Given the description of an element on the screen output the (x, y) to click on. 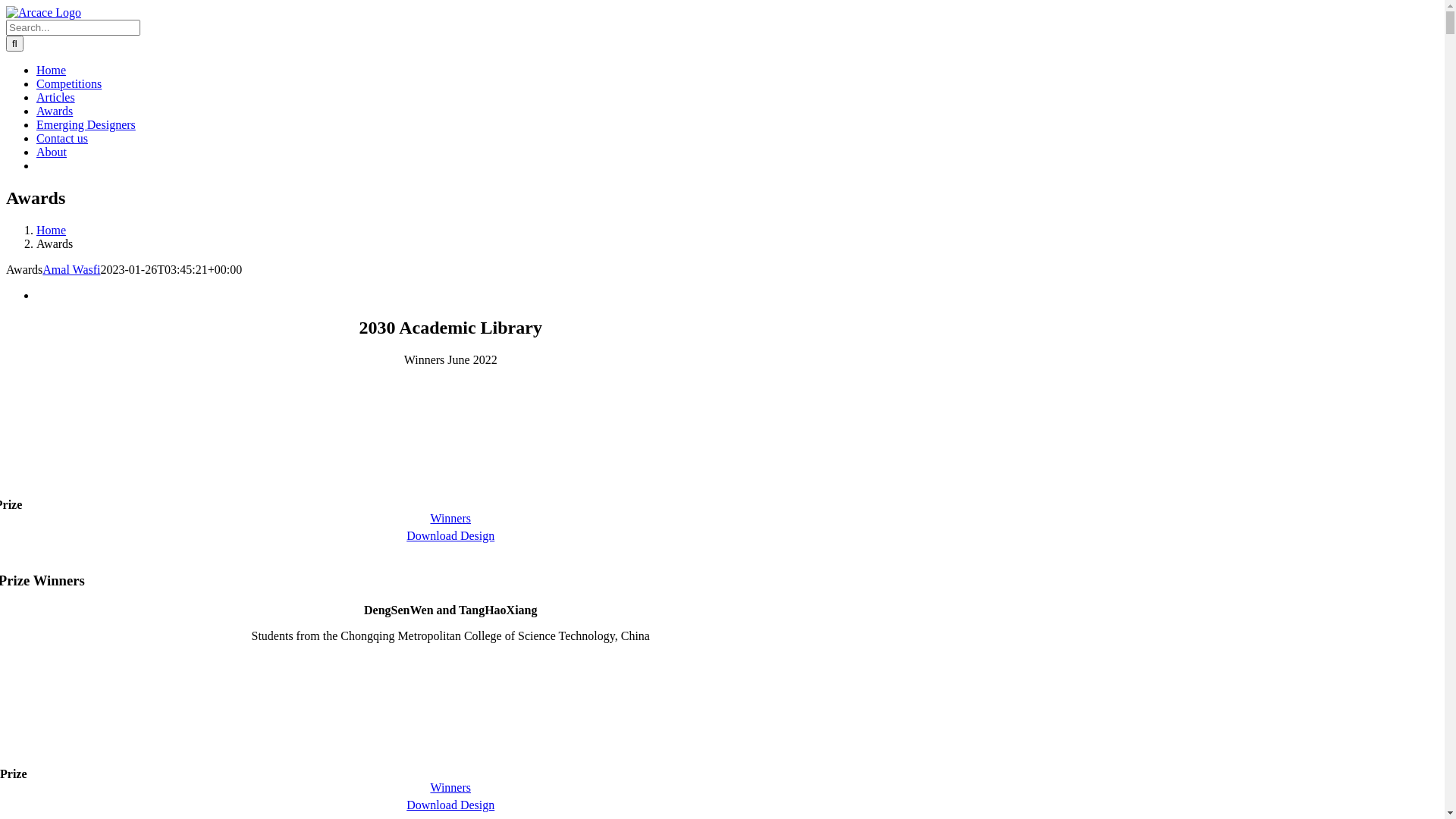
About Element type: text (51, 151)
gold-medal Element type: hover (450, 440)
Competitions Element type: text (68, 83)
Awards Element type: text (54, 110)
Skip to content Element type: text (5, 5)
Emerging Designers Element type: text (85, 124)
Home Element type: text (50, 229)
Winners Element type: text (449, 787)
Contact us Element type: text (61, 137)
Home Element type: text (50, 69)
Amal Wasfi Element type: text (71, 269)
Articles Element type: text (55, 97)
Winners Element type: text (449, 517)
Download Design Element type: text (450, 804)
Download Design Element type: text (450, 535)
silver-medal Element type: hover (450, 709)
